Given the description of an element on the screen output the (x, y) to click on. 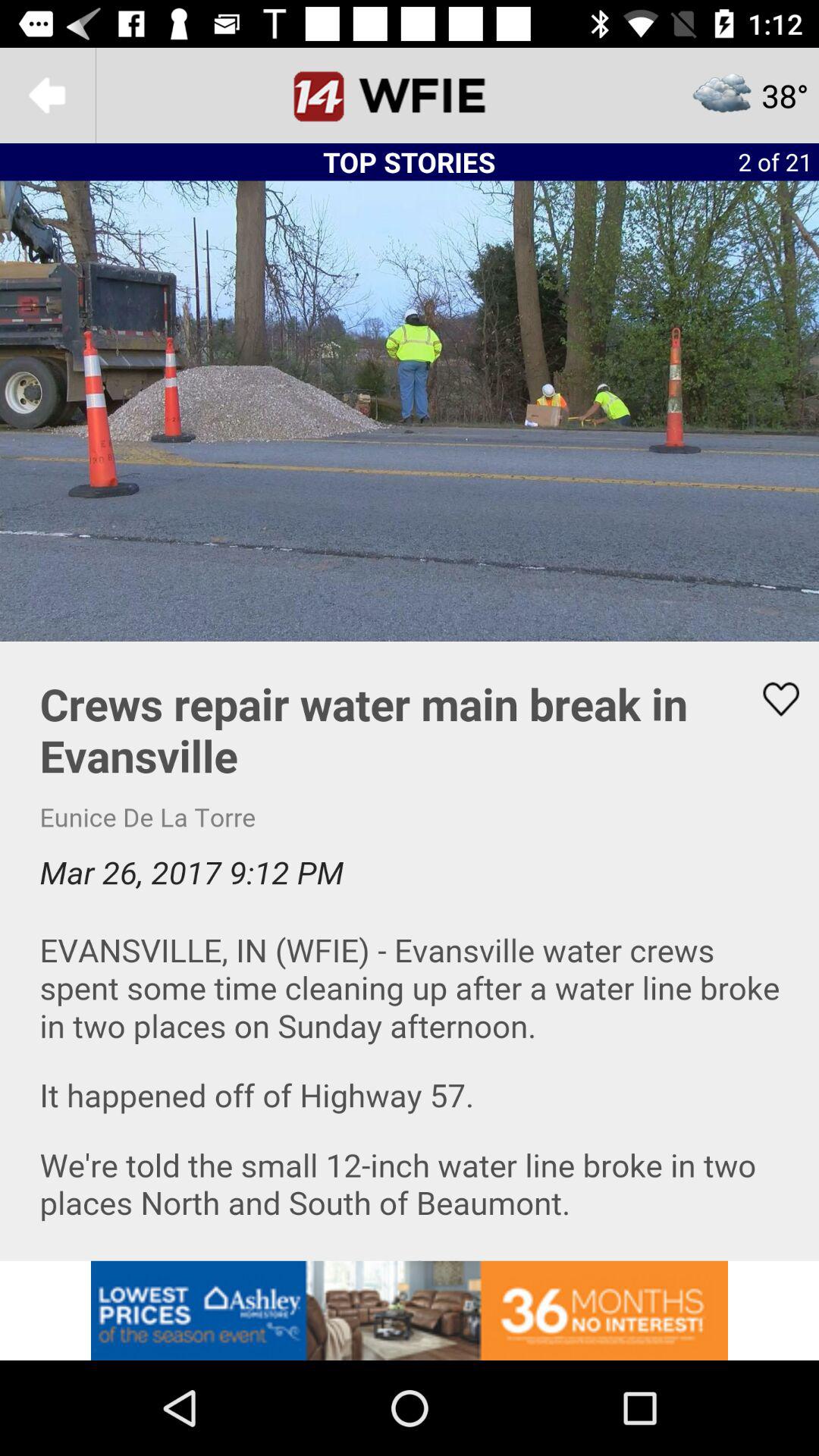
advertisement (409, 1310)
